Given the description of an element on the screen output the (x, y) to click on. 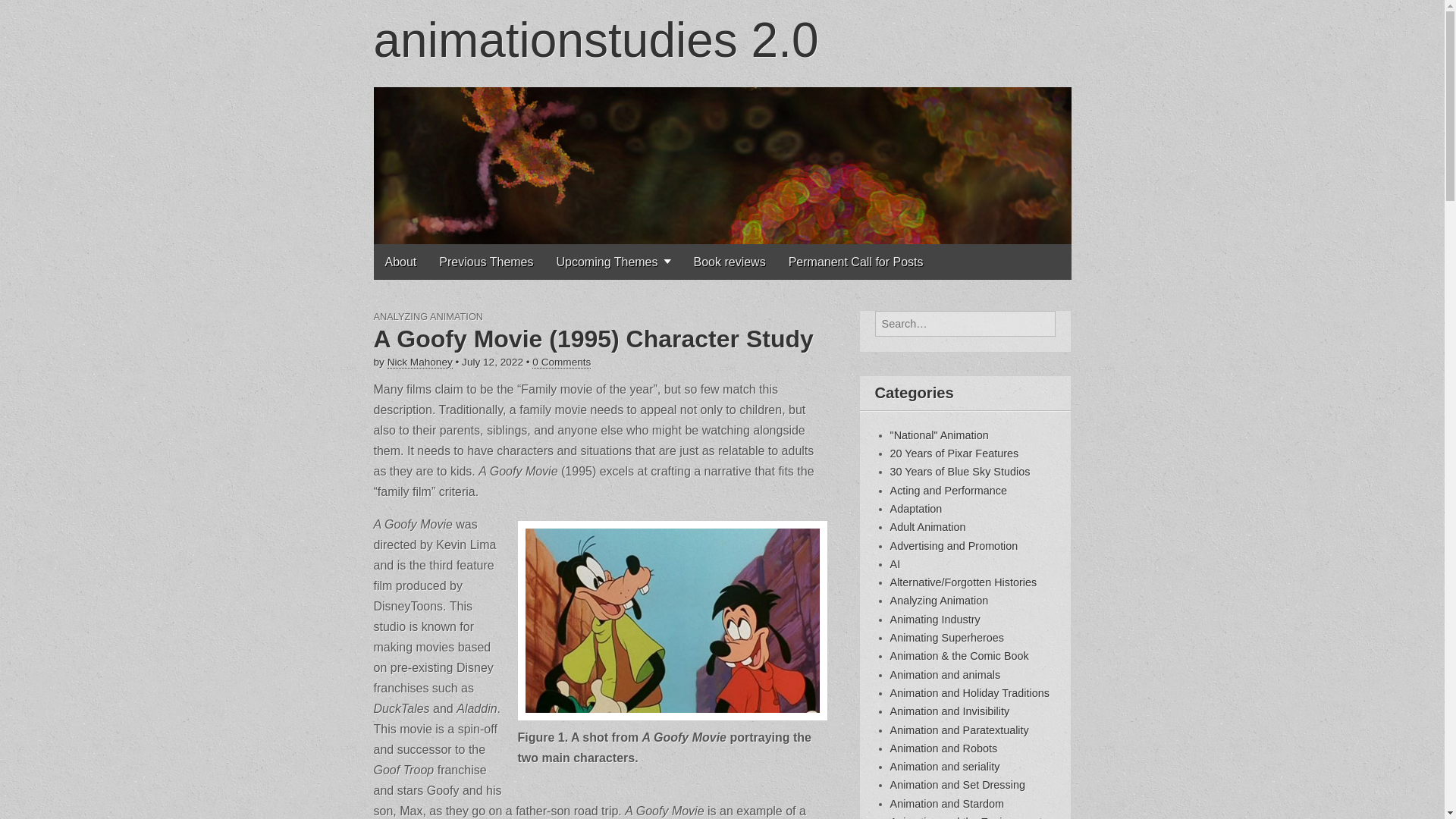
Animation and Invisibility (949, 711)
Posts by Nick Mahoney (419, 362)
Analyzing Animation (938, 600)
Animating Industry (934, 619)
Previous Themes (486, 262)
Permanent Call for Posts (855, 262)
July 12, 2022 (491, 361)
Upcoming Themes (613, 262)
Adult Animation (927, 526)
animationstudies 2.0 (595, 40)
Animation and Holiday Traditions (969, 693)
Acting and Performance (948, 490)
30 Years of Blue Sky Studios (959, 471)
Book reviews (729, 262)
"National" Animation (938, 435)
